Given the description of an element on the screen output the (x, y) to click on. 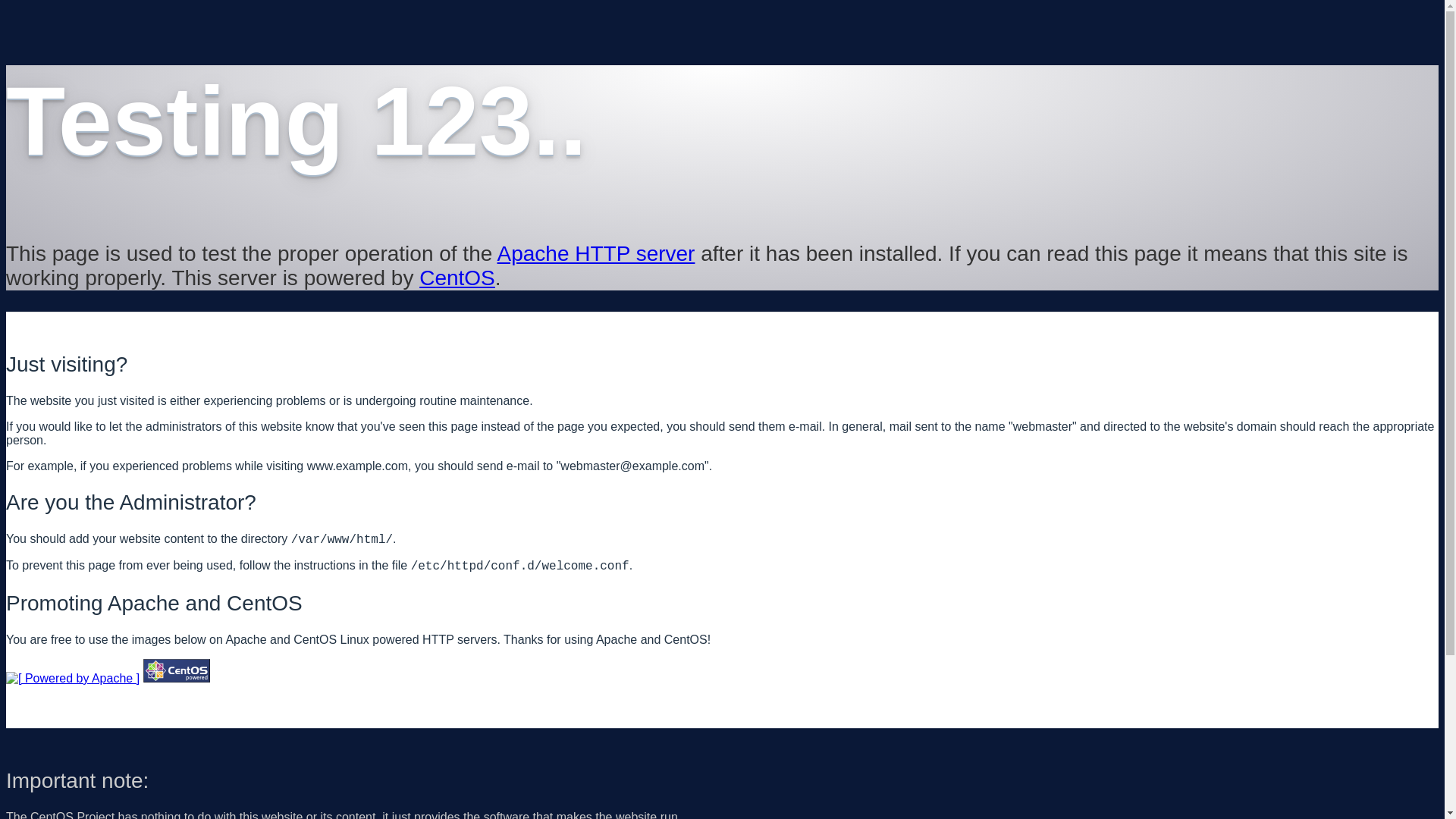
CentOS Element type: text (457, 276)
Apache HTTP server Element type: text (596, 252)
